Given the description of an element on the screen output the (x, y) to click on. 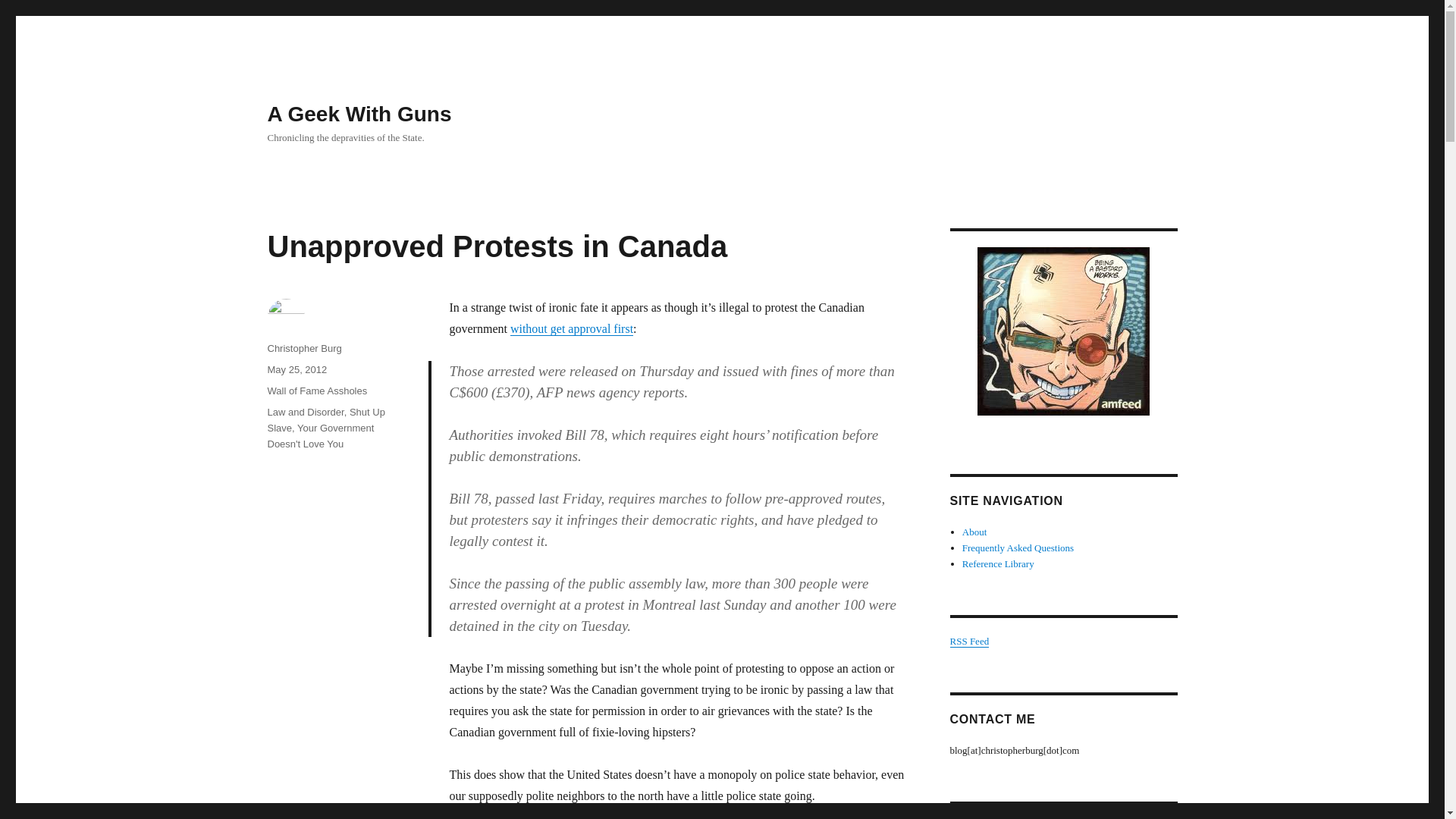
A Geek With Guns (358, 114)
May 25, 2012 (296, 369)
Your Government Doesn't Love You (320, 435)
Christopher Burg (303, 348)
without get approval first (572, 328)
Frequently Asked Questions (1018, 547)
Reference Library (997, 563)
Shut Up Slave (325, 420)
RSS Feed (968, 641)
About (974, 531)
Wall of Fame Assholes (316, 390)
Law and Disorder (304, 411)
